Given the description of an element on the screen output the (x, y) to click on. 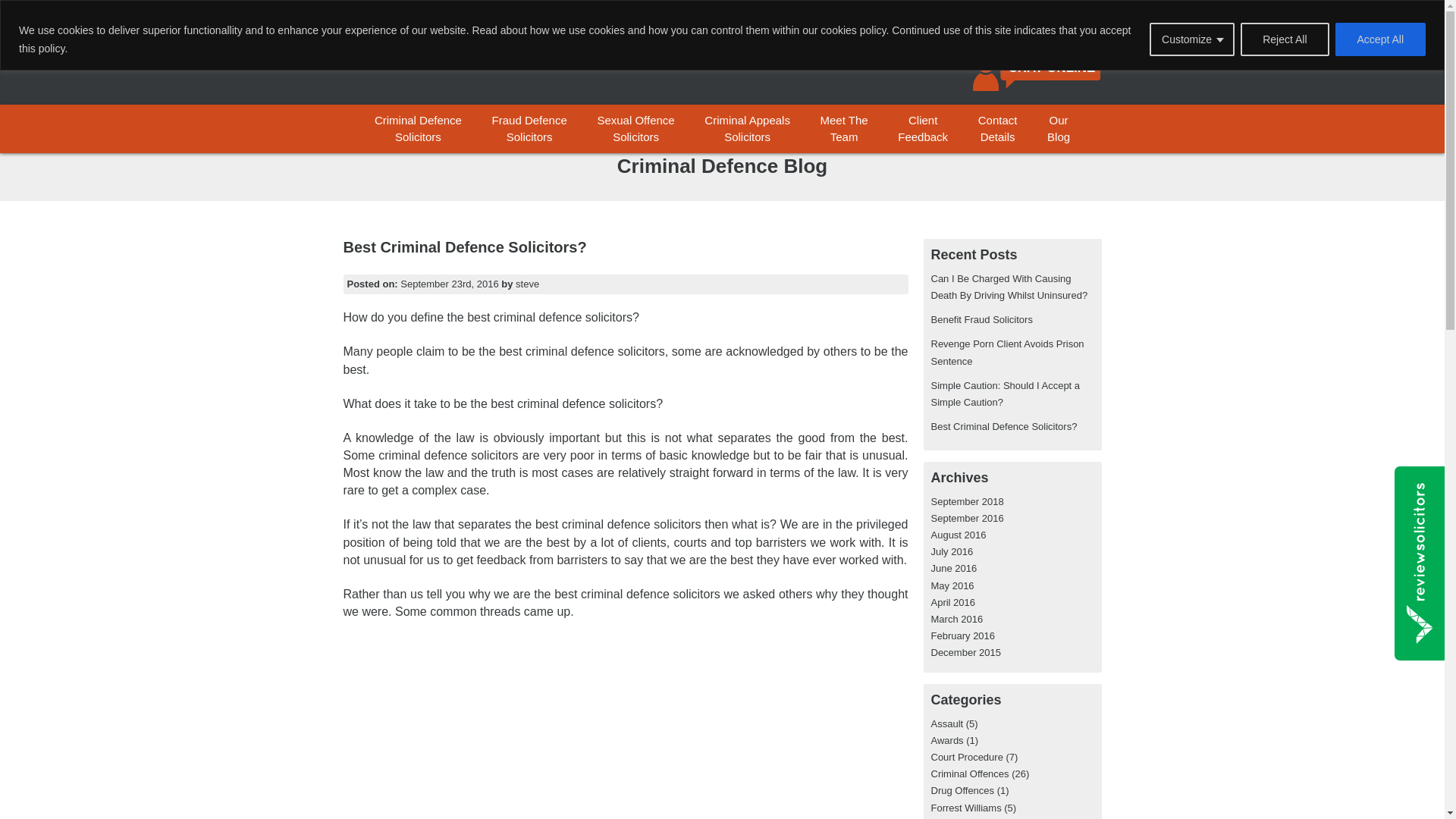
Customize (1192, 39)
Reject All (1283, 39)
Accept All (1380, 39)
